Given the description of an element on the screen output the (x, y) to click on. 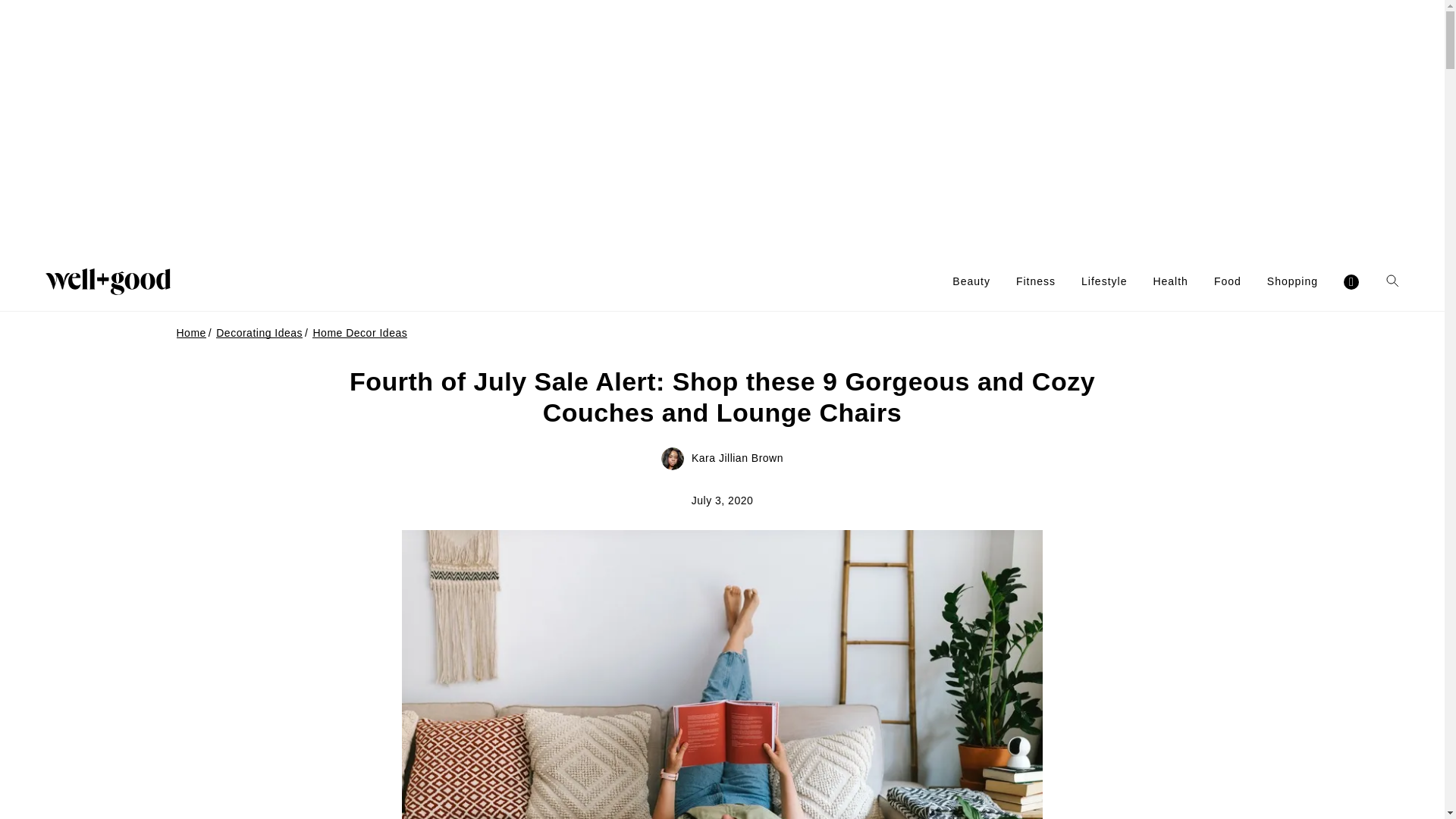
Health (1170, 281)
Fitness (1035, 281)
Shopping (1291, 281)
Beauty (971, 281)
Lifestyle (1103, 281)
Food (1227, 281)
